Given the description of an element on the screen output the (x, y) to click on. 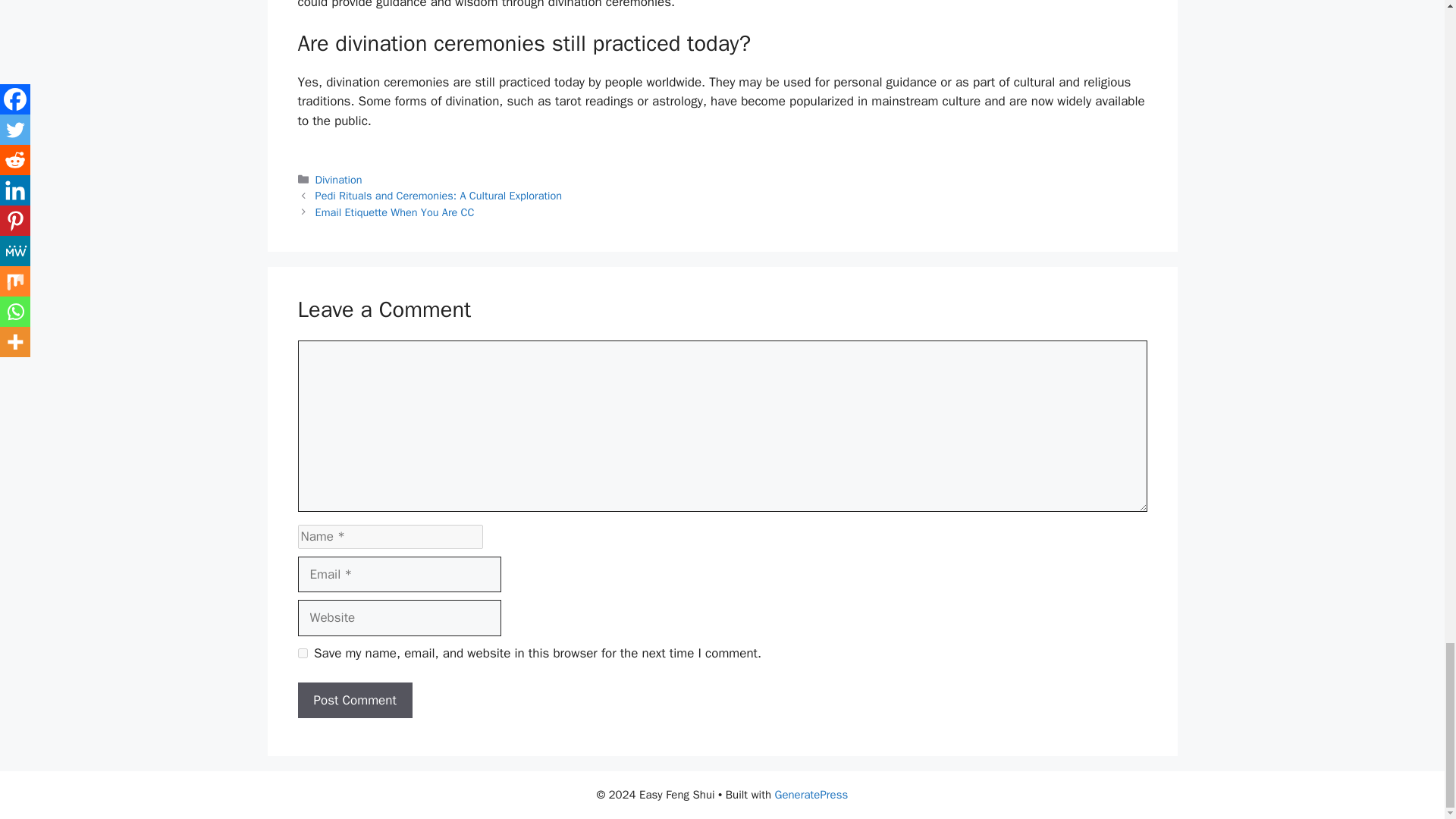
Email Etiquette When You Are CC (394, 212)
Divination (338, 179)
yes (302, 653)
Post Comment (354, 700)
Pedi Rituals and Ceremonies: A Cultural Exploration (438, 195)
